Given the description of an element on the screen output the (x, y) to click on. 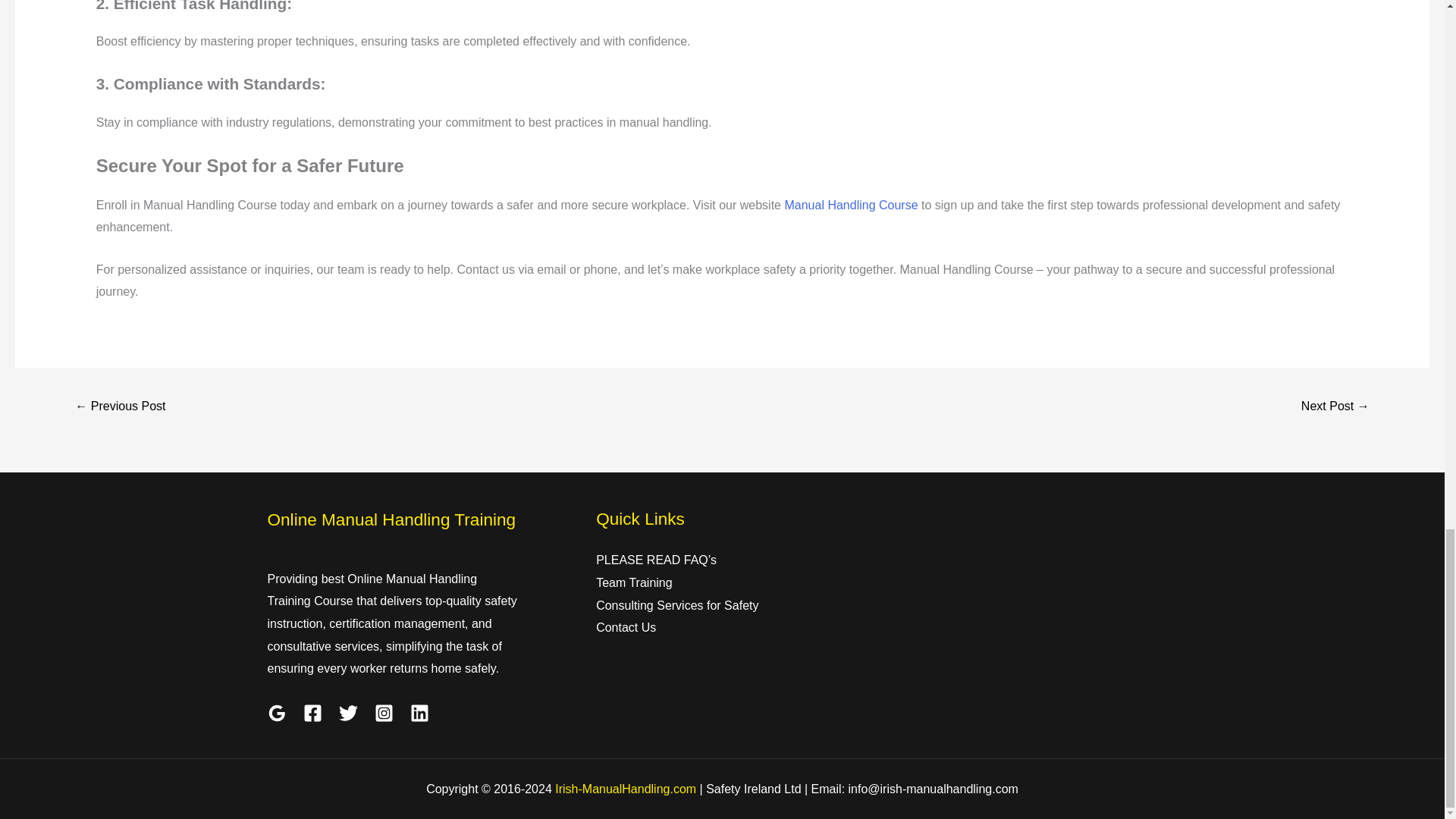
Manual Handling Course (850, 205)
